Given the description of an element on the screen output the (x, y) to click on. 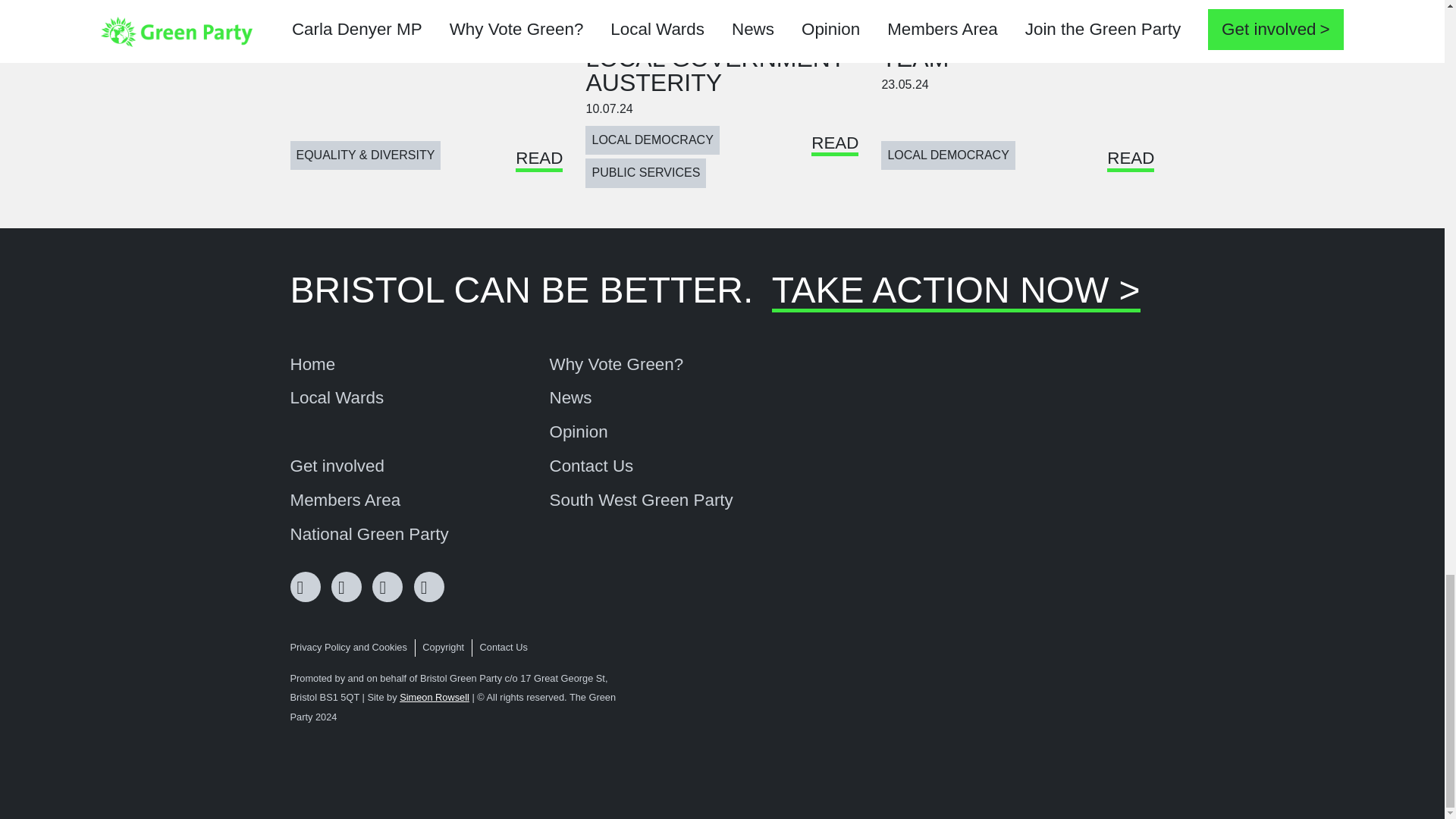
PUBLIC SERVICES (645, 172)
Contact Us (590, 466)
Home (311, 364)
LOCAL DEMOCRACY (947, 154)
Get involved (336, 466)
LOCAL DEMOCRACY (652, 140)
Local Wards (336, 397)
News (569, 397)
Why Vote Green? (615, 364)
Green Party Logo (1097, 725)
